Given the description of an element on the screen output the (x, y) to click on. 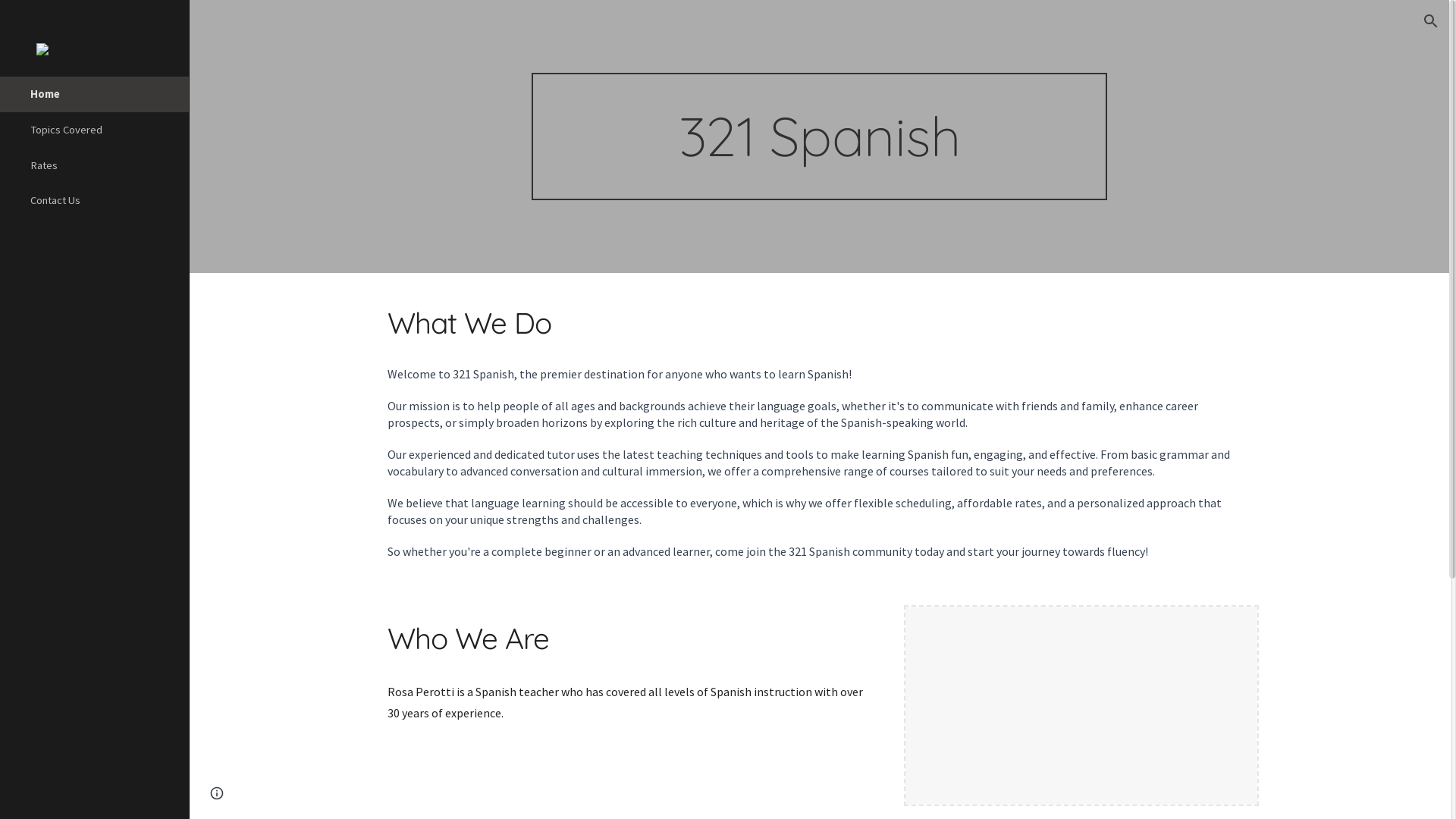
Rates Element type: text (103, 165)
Home Element type: text (103, 94)
Topics Covered Element type: text (103, 129)
Contact Us Element type: text (103, 200)
